Given the description of an element on the screen output the (x, y) to click on. 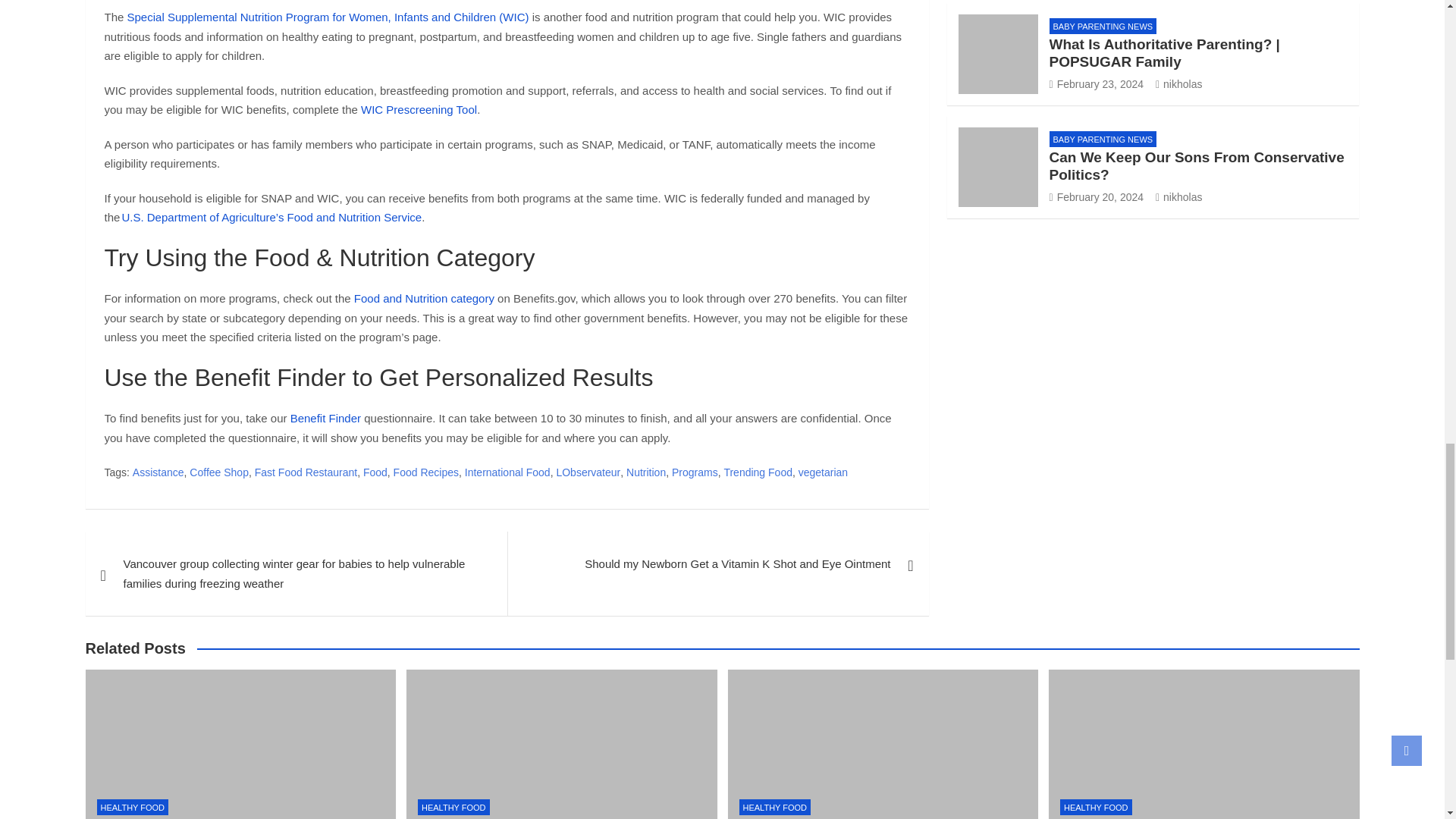
Nutrition (645, 473)
International Food (507, 473)
Trending Food (757, 473)
Can We Keep Our Sons From Conservative Politics? (1096, 196)
Fast Food Restaurant (305, 473)
Food (374, 473)
Food Recipes (425, 473)
Benefit Finder (325, 418)
WIC Prescreening Tool (419, 109)
